Given the description of an element on the screen output the (x, y) to click on. 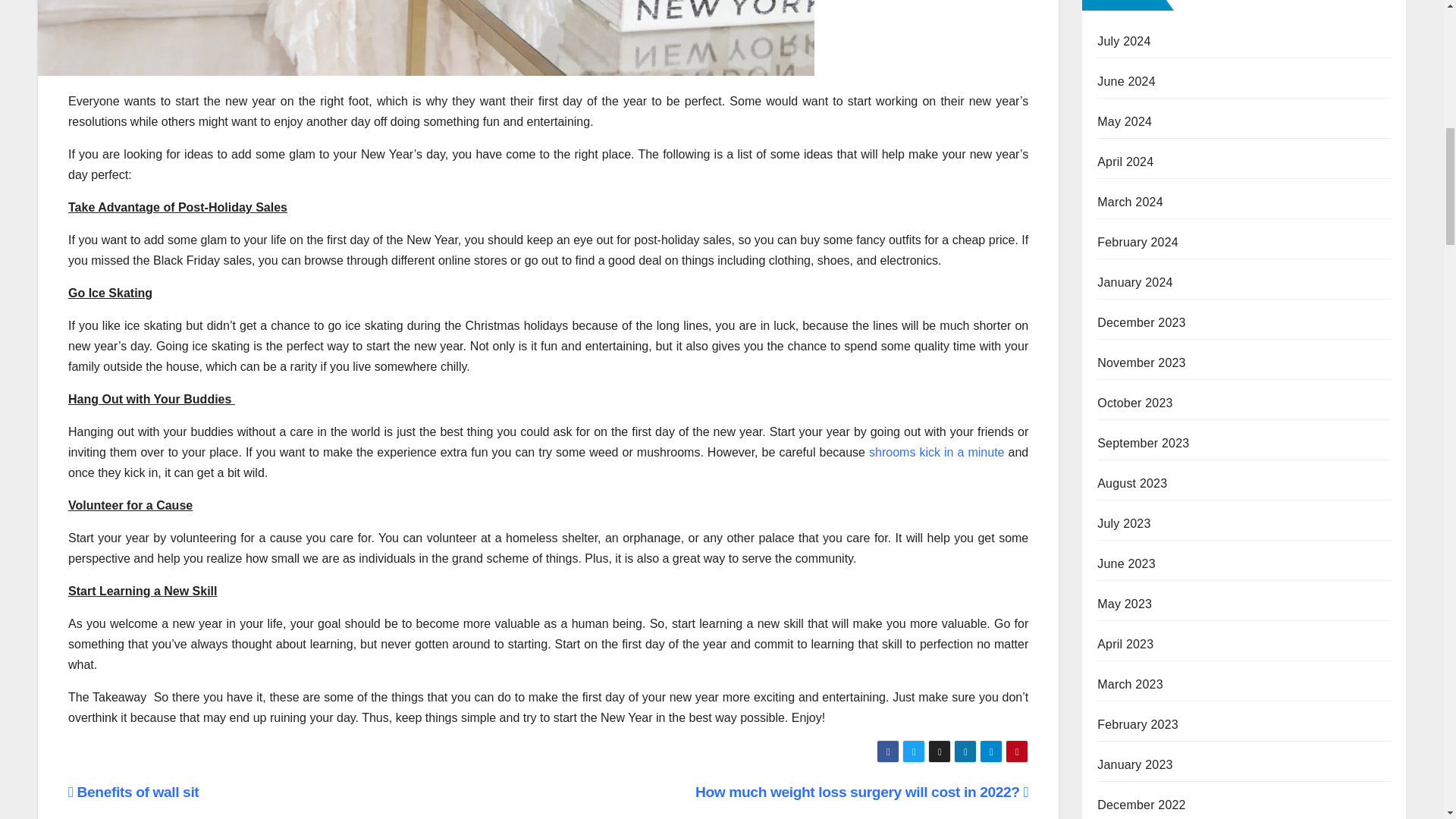
shrooms kick in a minute (936, 451)
How much weight loss surgery will cost in 2022? (861, 791)
Benefits of wall sit (133, 791)
